Given the description of an element on the screen output the (x, y) to click on. 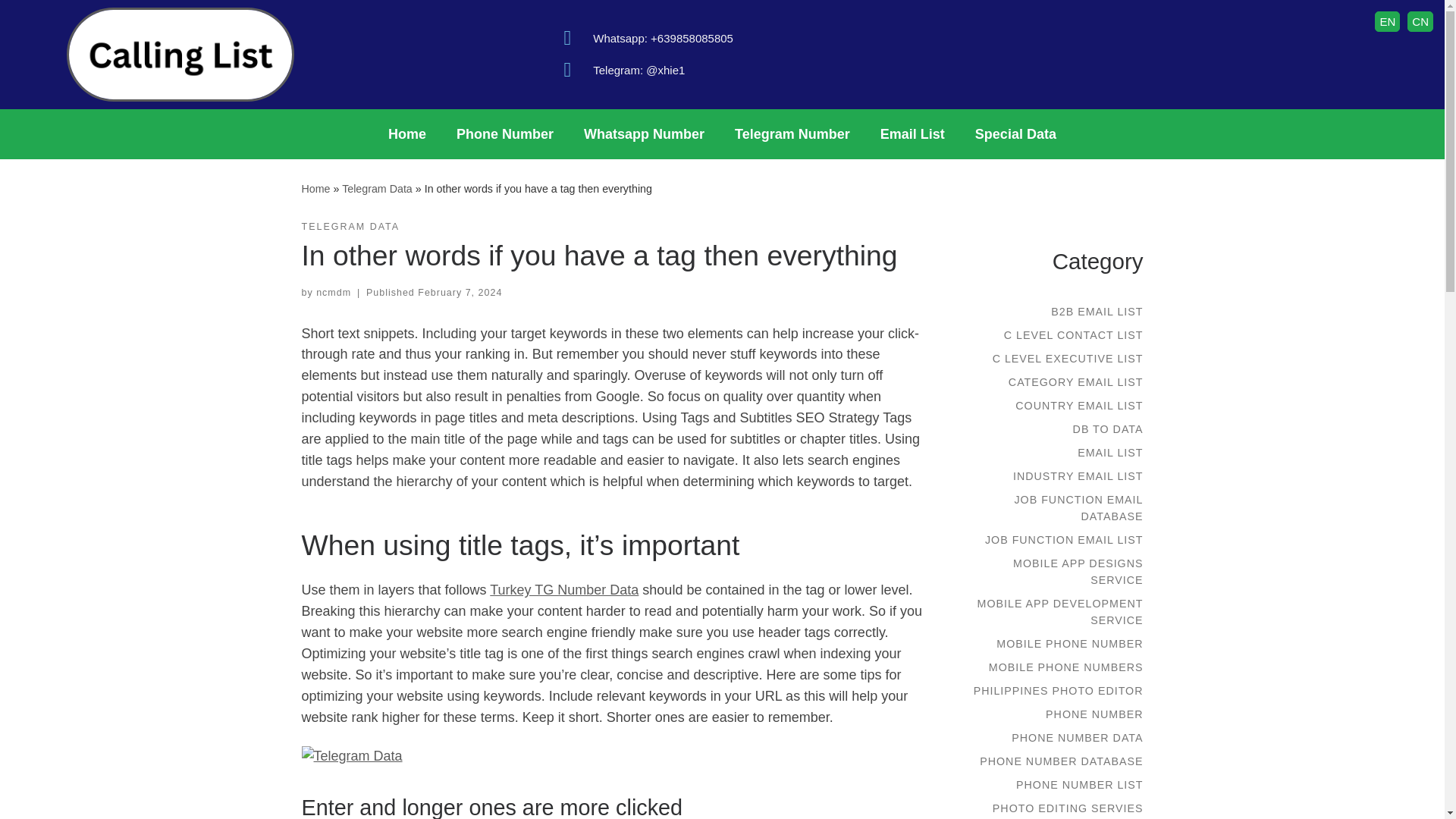
Home (315, 188)
Special Data (1015, 134)
February 7, 2024 (459, 292)
CN (1419, 21)
Telegram Data (377, 188)
Calling List (315, 188)
Telegram Number (791, 134)
Turkey TG Number Data (564, 589)
Phone Number (505, 134)
View all posts in Telegram Data (350, 227)
EN (1386, 21)
TELEGRAM DATA (350, 227)
Home (406, 134)
View all posts by ncmdm (332, 292)
5:14 am (459, 292)
